Given the description of an element on the screen output the (x, y) to click on. 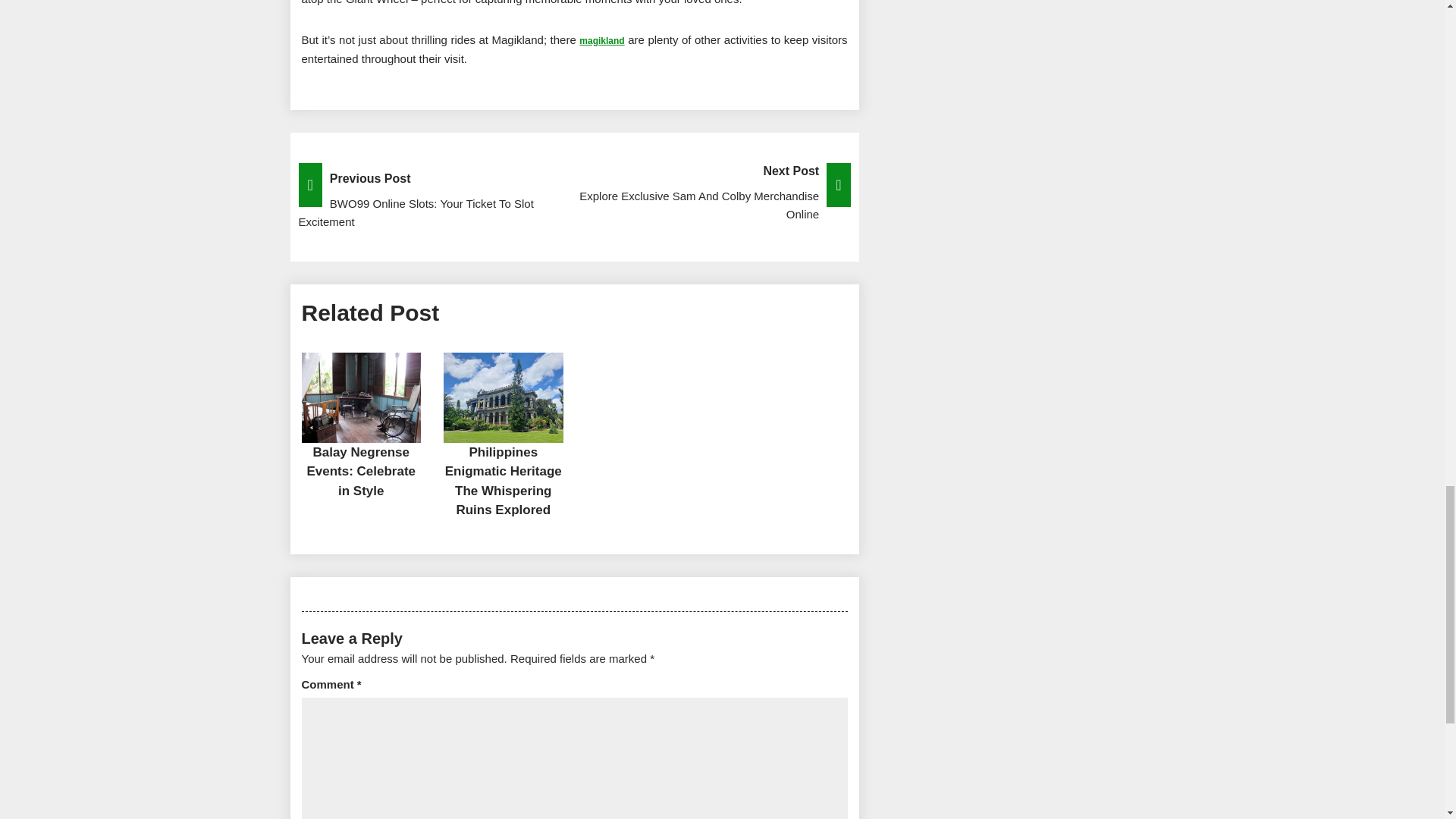
Philippines Enigmatic Heritage The Whispering Ruins Explored (574, 193)
magikland (503, 481)
Balay Negrense Events: Celebrate in Style (601, 39)
